Given the description of an element on the screen output the (x, y) to click on. 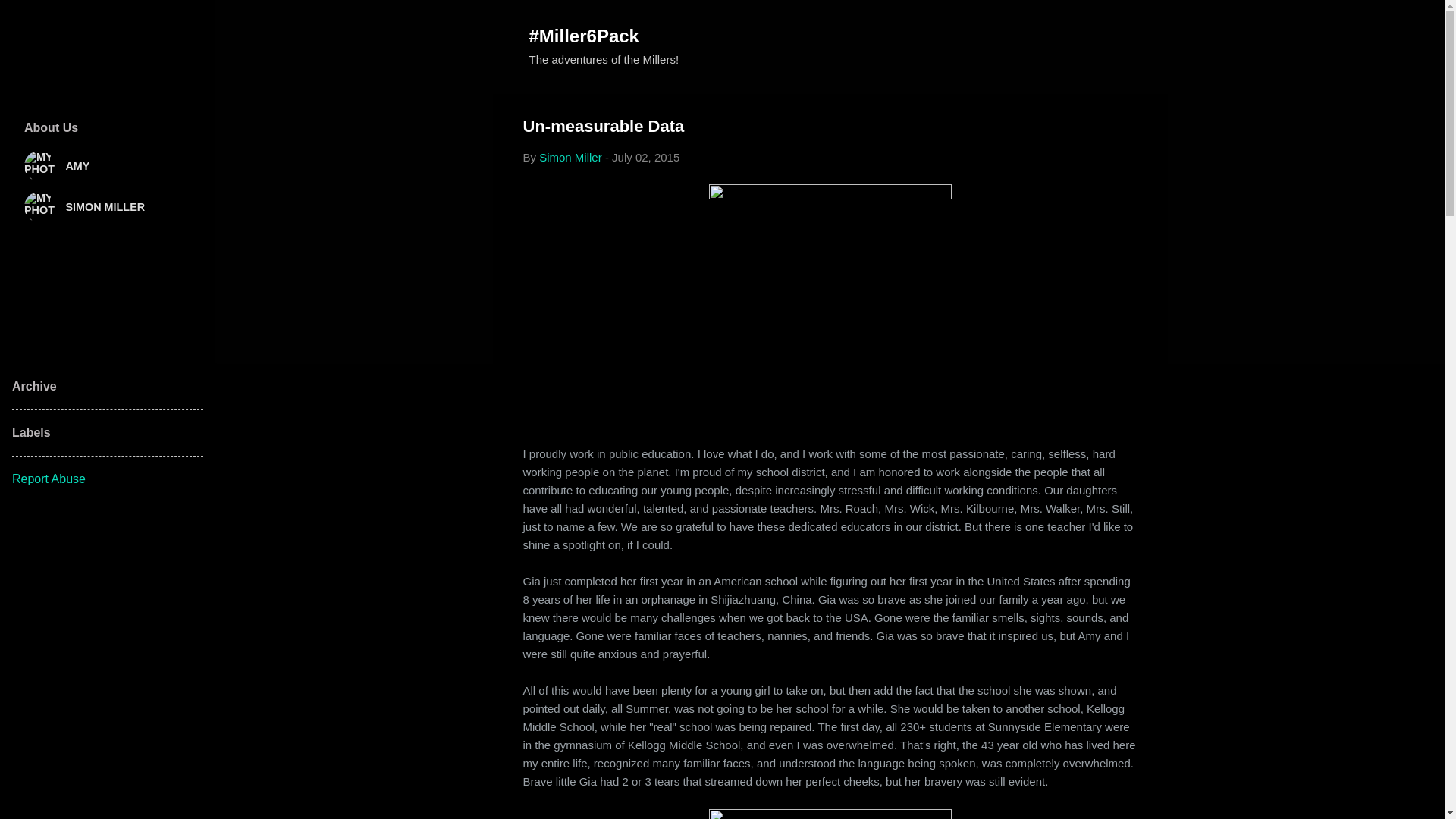
July 02, 2015 (645, 156)
Simon Miller (570, 156)
permanent link (645, 156)
Search (29, 18)
author profile (570, 156)
